Given the description of an element on the screen output the (x, y) to click on. 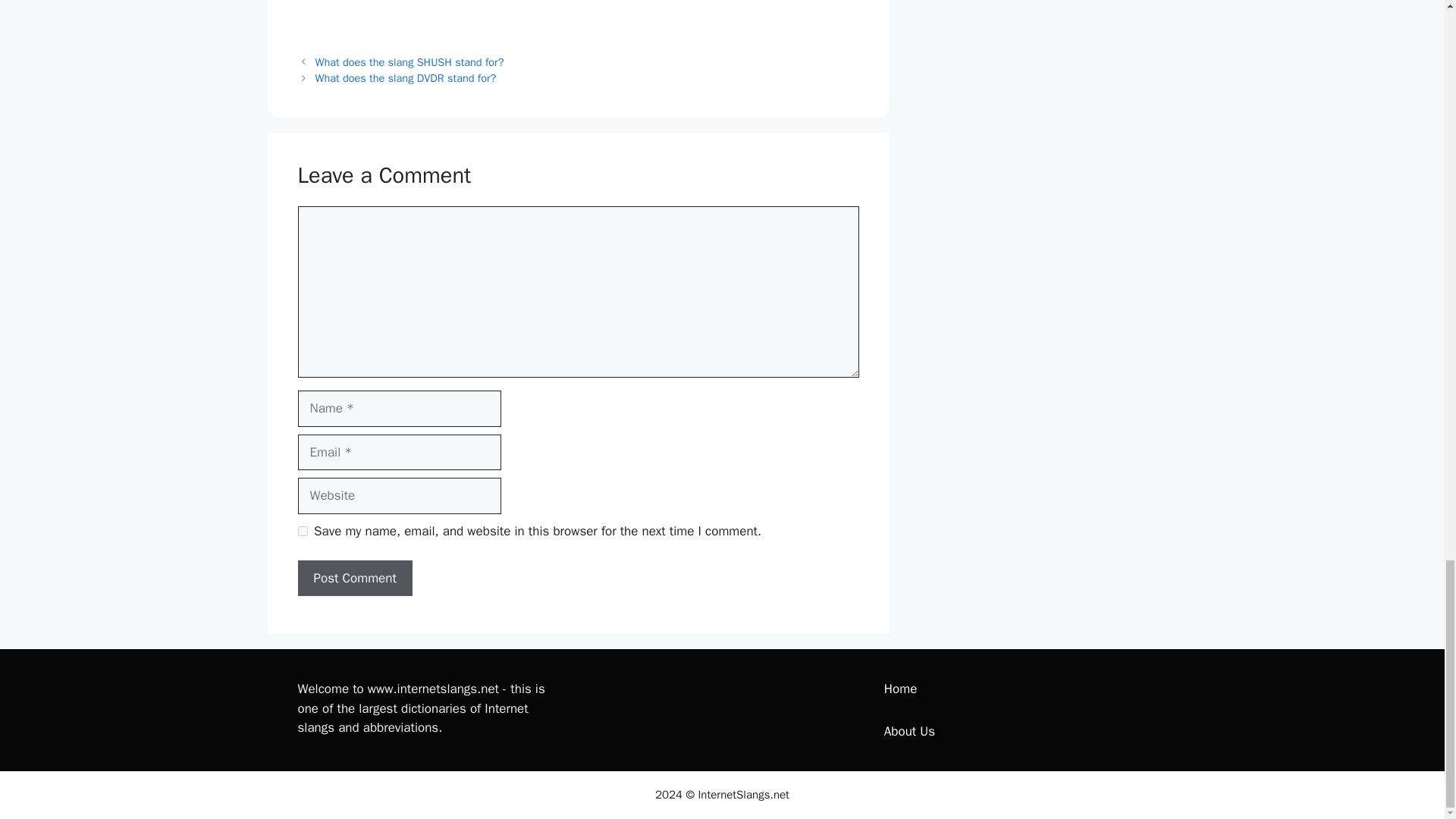
Post Comment (354, 578)
What does the slang DVDR stand for? (405, 78)
Post Comment (354, 578)
About Us (908, 731)
What does the slang SHUSH stand for? (409, 61)
yes (302, 531)
Home (900, 688)
